Given the description of an element on the screen output the (x, y) to click on. 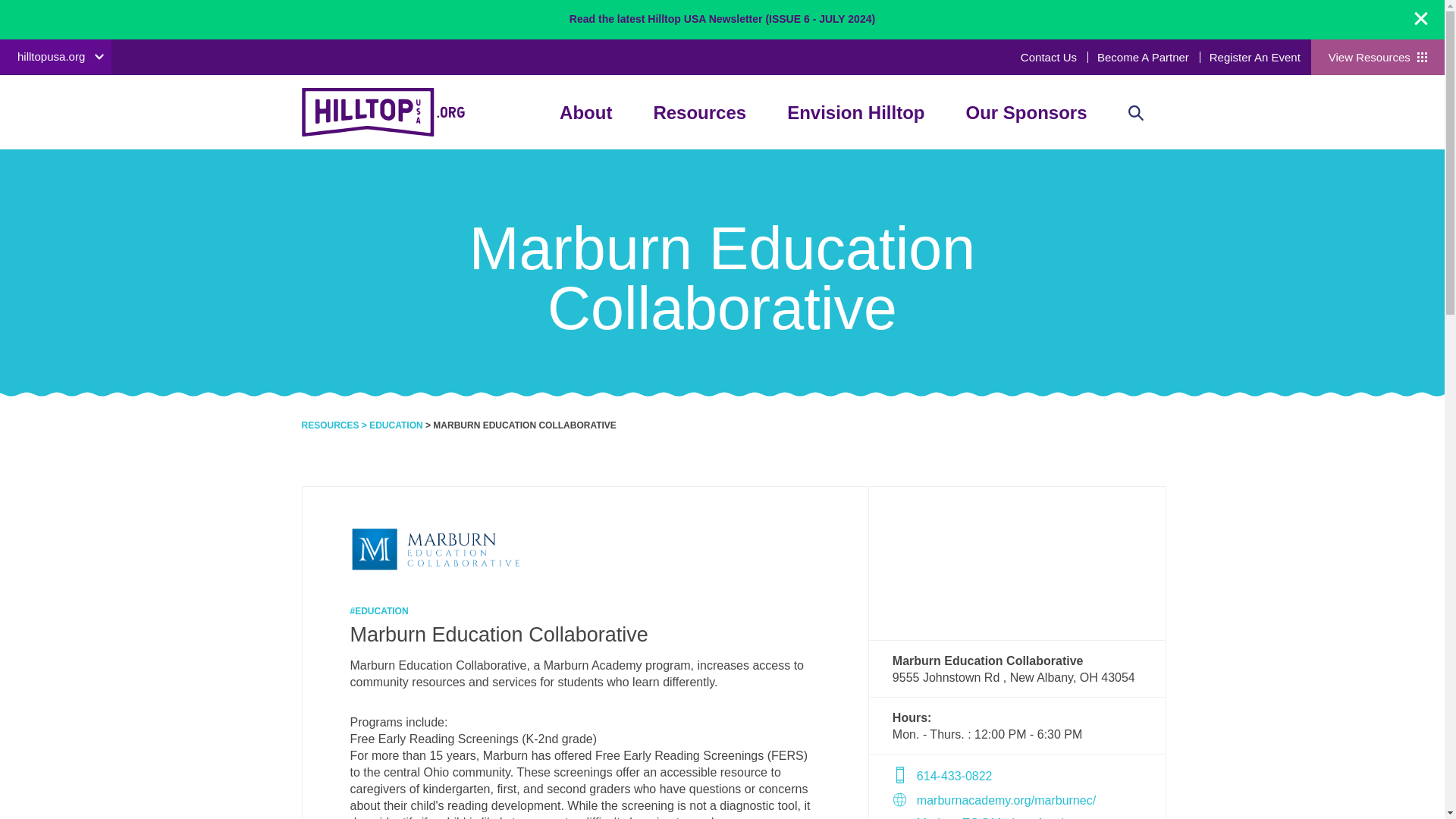
EDUCATION (395, 425)
Our Sponsors (1025, 112)
Search (1077, 164)
Resources (698, 112)
Contact Us (1048, 56)
hilltopusa.org (56, 56)
About (585, 112)
Envision Hilltop (855, 112)
Envision Hilltop (855, 112)
Register An Event (1254, 56)
Become A Partner (1143, 56)
RESOURCES (330, 425)
